Given the description of an element on the screen output the (x, y) to click on. 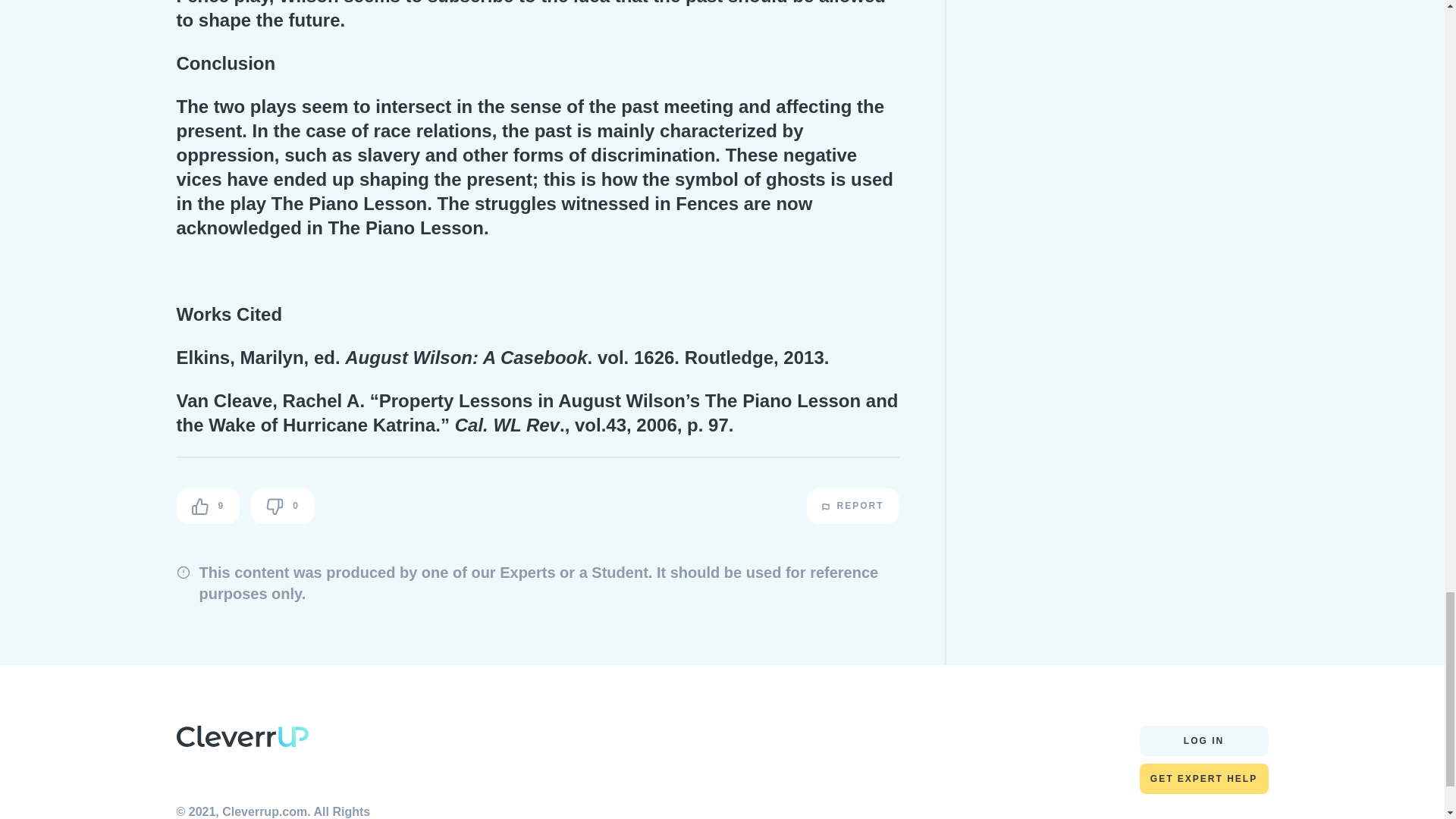
0 (282, 506)
REPORT (852, 506)
9 (208, 506)
Home (241, 740)
logo (241, 735)
